Given the description of an element on the screen output the (x, y) to click on. 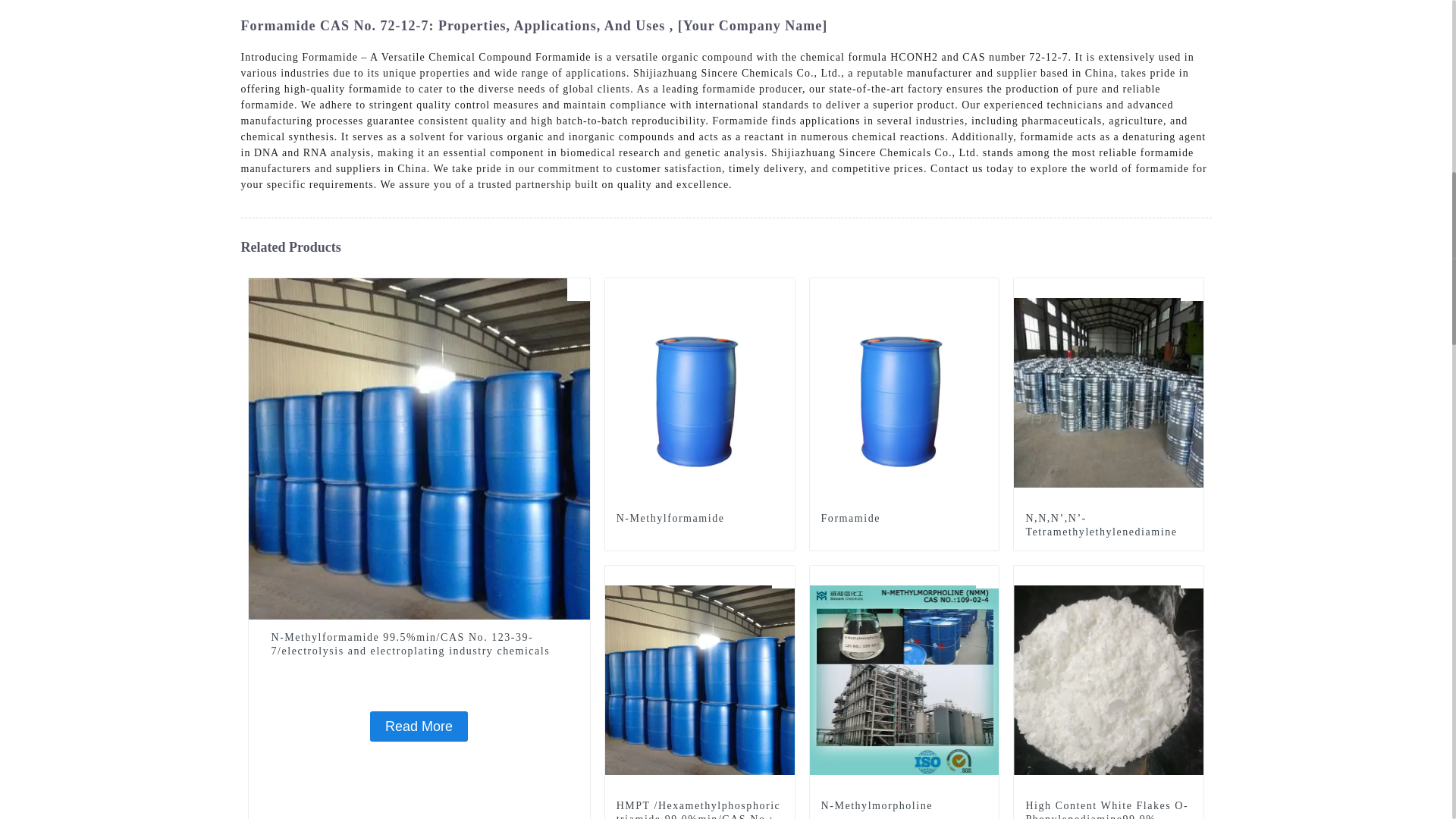
Formamide (904, 518)
Read More (418, 726)
Formamide (904, 518)
dexs (986, 289)
N-Methylformamide (699, 391)
N-Methylformamide (699, 518)
N-Methylformamide (699, 518)
Formamide (903, 391)
